Given the description of an element on the screen output the (x, y) to click on. 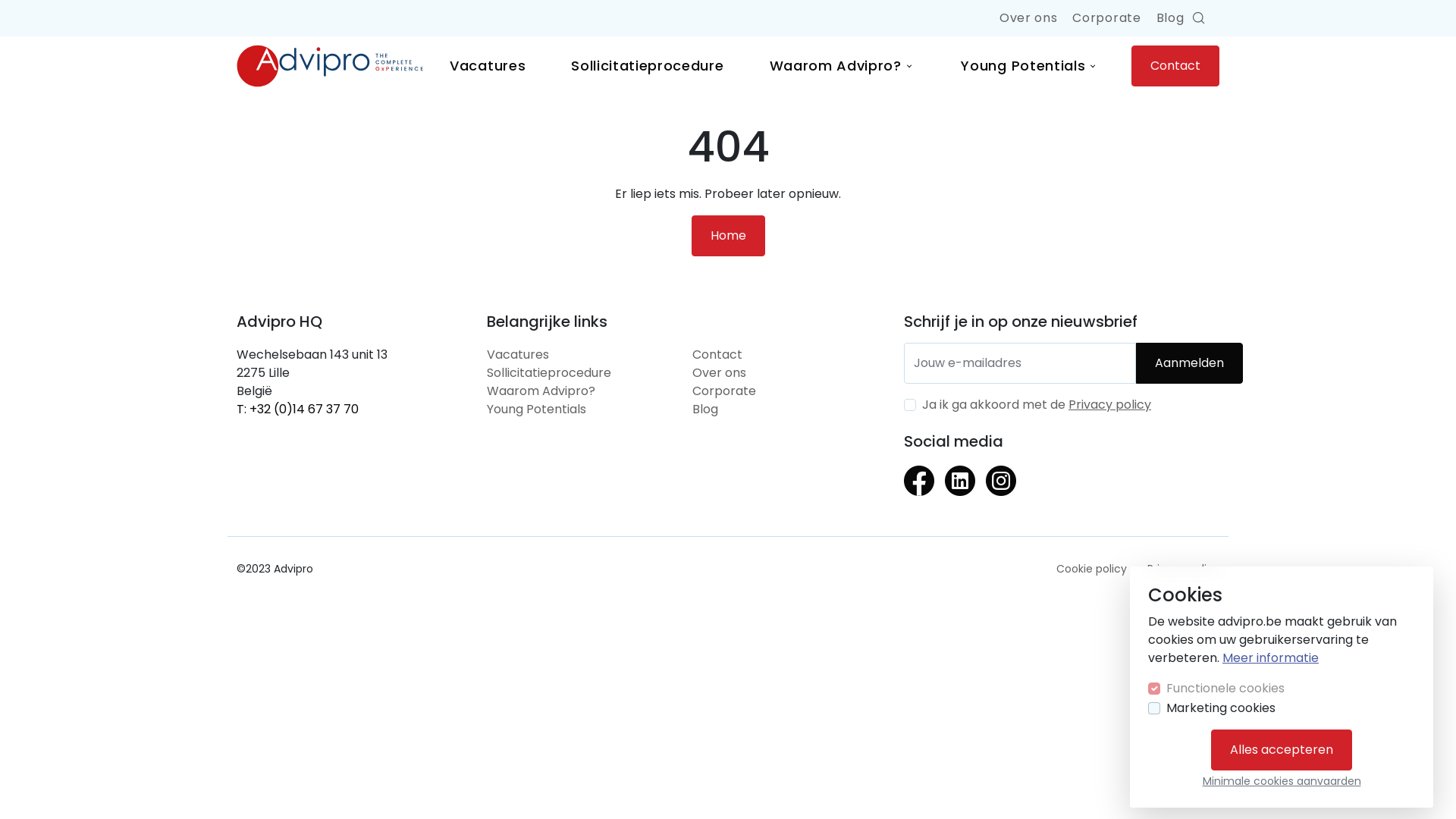
Privacy policy Element type: text (1183, 568)
Zoeken Element type: hover (1199, 18)
Blog Element type: text (705, 408)
Minimale cookies aanvaarden Element type: text (1281, 781)
Young Potentials Element type: text (536, 408)
Meer informatie Element type: text (1270, 657)
Aanmelden Element type: text (1188, 362)
Sollicitatieprocedure Element type: text (647, 65)
facebook Element type: hover (918, 491)
linkedin Element type: hover (959, 491)
T: +32 (0)14 67 37 70 Element type: text (297, 408)
Sollicitatieprocedure Element type: text (548, 372)
Vacatures Element type: text (517, 354)
Alles accepteren Element type: text (1281, 749)
Corporate Element type: text (1106, 18)
Home Element type: text (728, 235)
Contact Element type: text (1175, 65)
Over ons Element type: text (719, 372)
Waarom Advipro? Element type: text (540, 390)
Corporate Element type: text (724, 390)
Over ons Element type: text (1027, 18)
Waarom Advipro? Element type: text (842, 65)
Privacy policy Element type: text (1109, 404)
instagram Element type: hover (1000, 491)
Young Potentials Element type: text (1030, 65)
Cookie policy Element type: text (1091, 568)
Contact Element type: text (717, 354)
Blog Element type: text (1170, 18)
Vacatures Element type: text (487, 65)
